Given the description of an element on the screen output the (x, y) to click on. 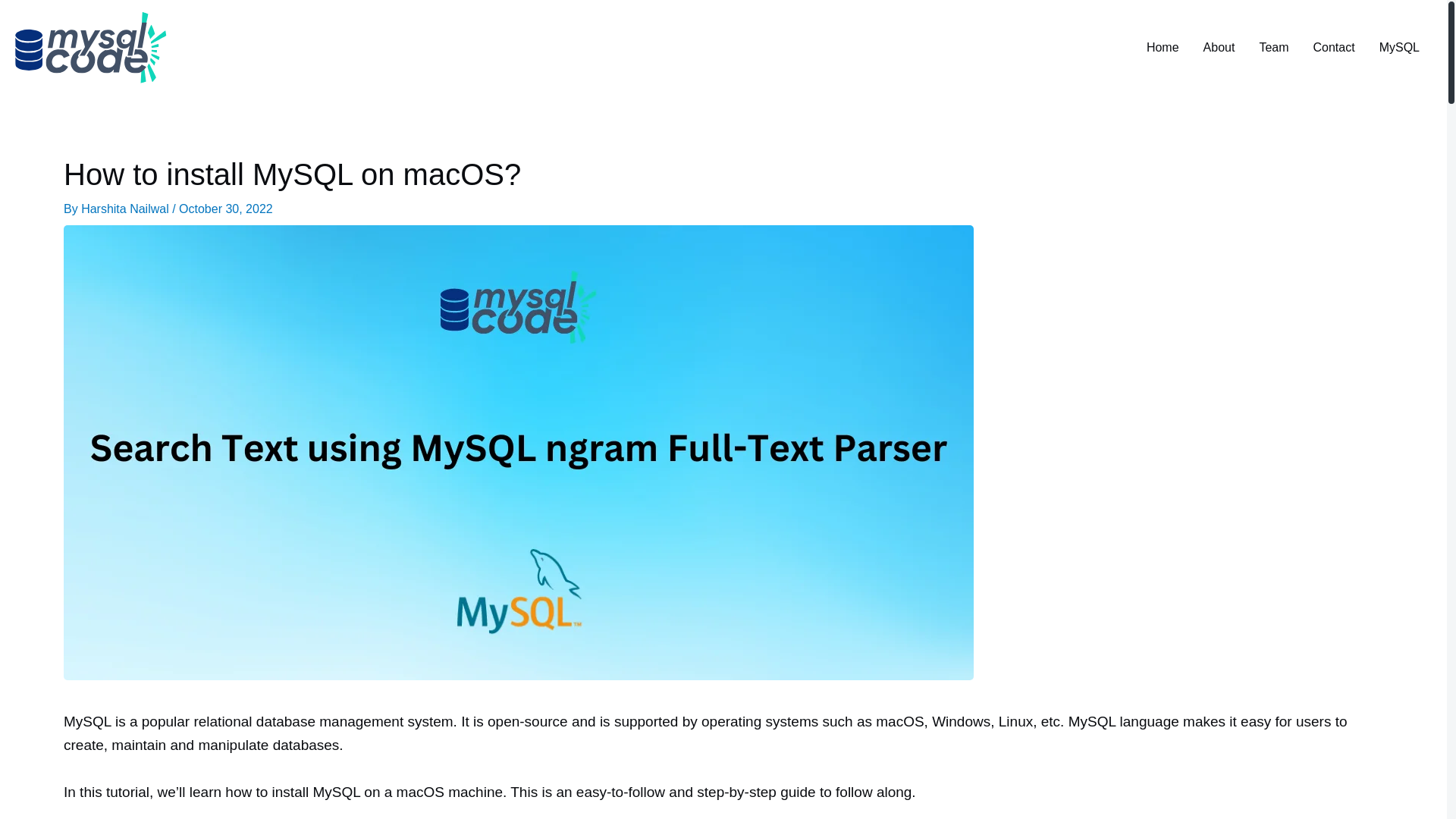
Home (1162, 47)
View all posts by Harshita Nailwal (126, 208)
About (1219, 47)
Contact (1334, 47)
Harshita Nailwal (126, 208)
MySQL (1399, 47)
Team (1273, 47)
